Given the description of an element on the screen output the (x, y) to click on. 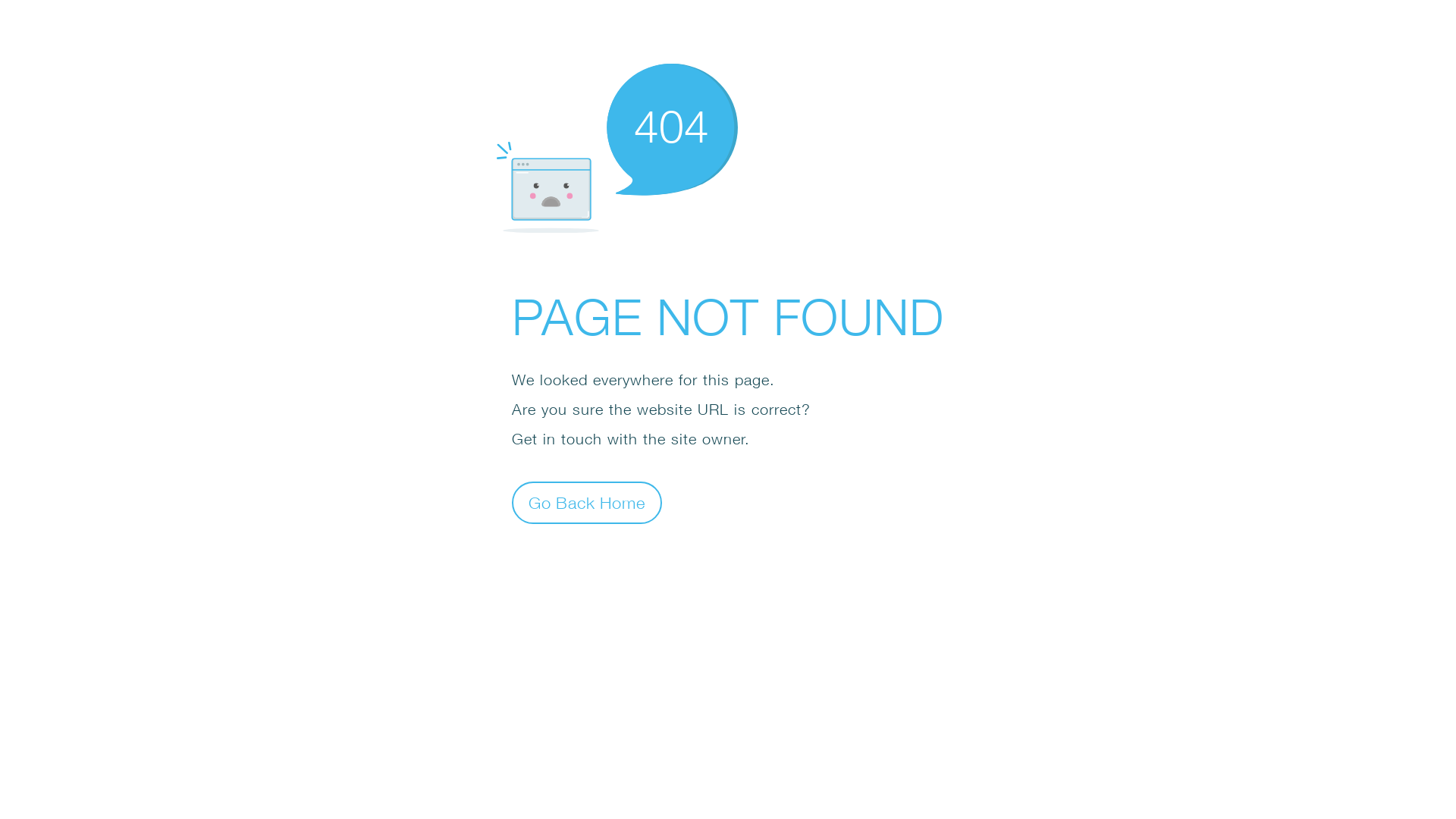
Go Back Home Element type: text (586, 502)
